Given the description of an element on the screen output the (x, y) to click on. 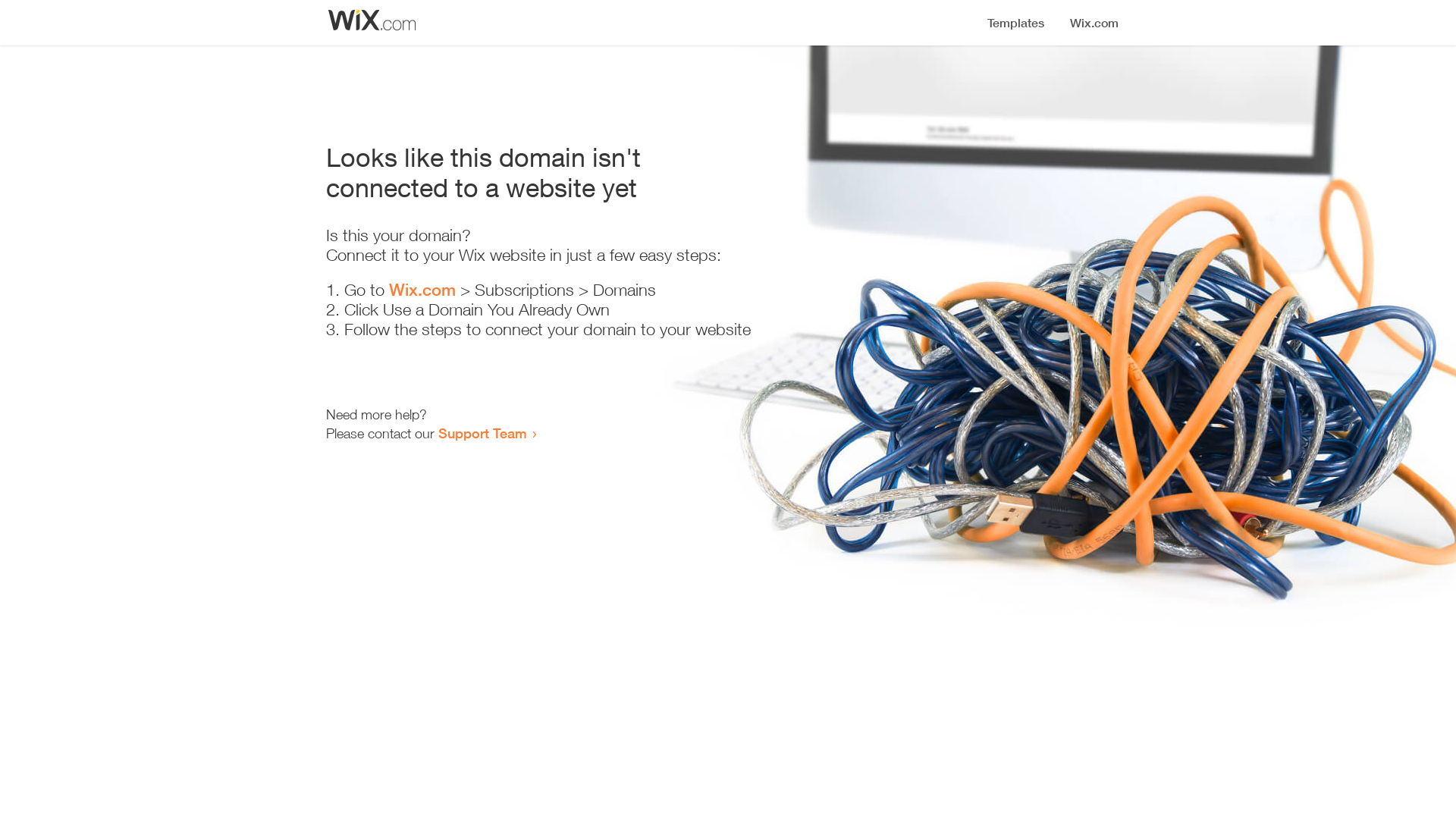
Support Team Element type: text (482, 432)
Wix.com Element type: text (422, 289)
